Given the description of an element on the screen output the (x, y) to click on. 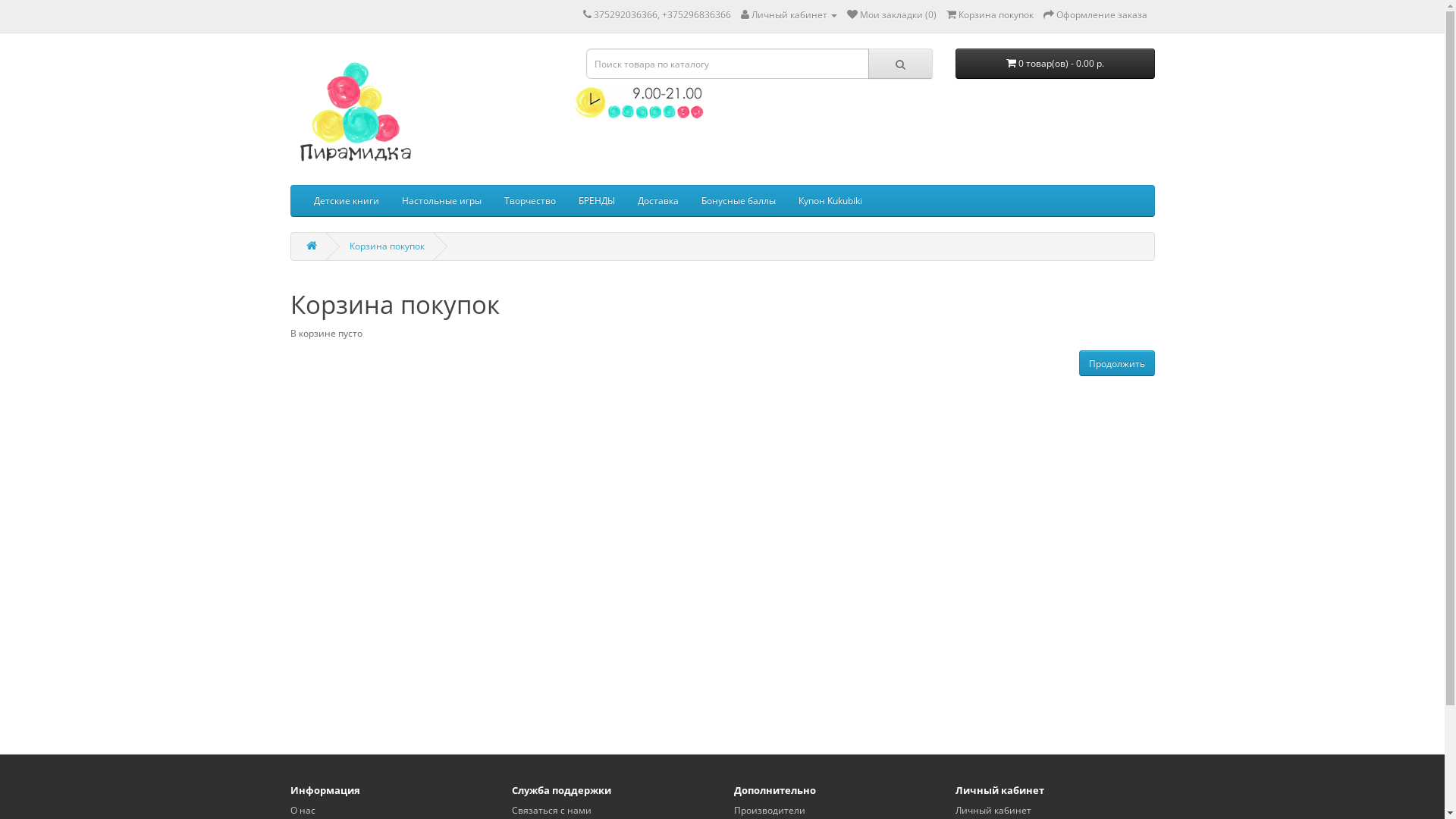
Piramidka.by Element type: hover (353, 112)
